Given the description of an element on the screen output the (x, y) to click on. 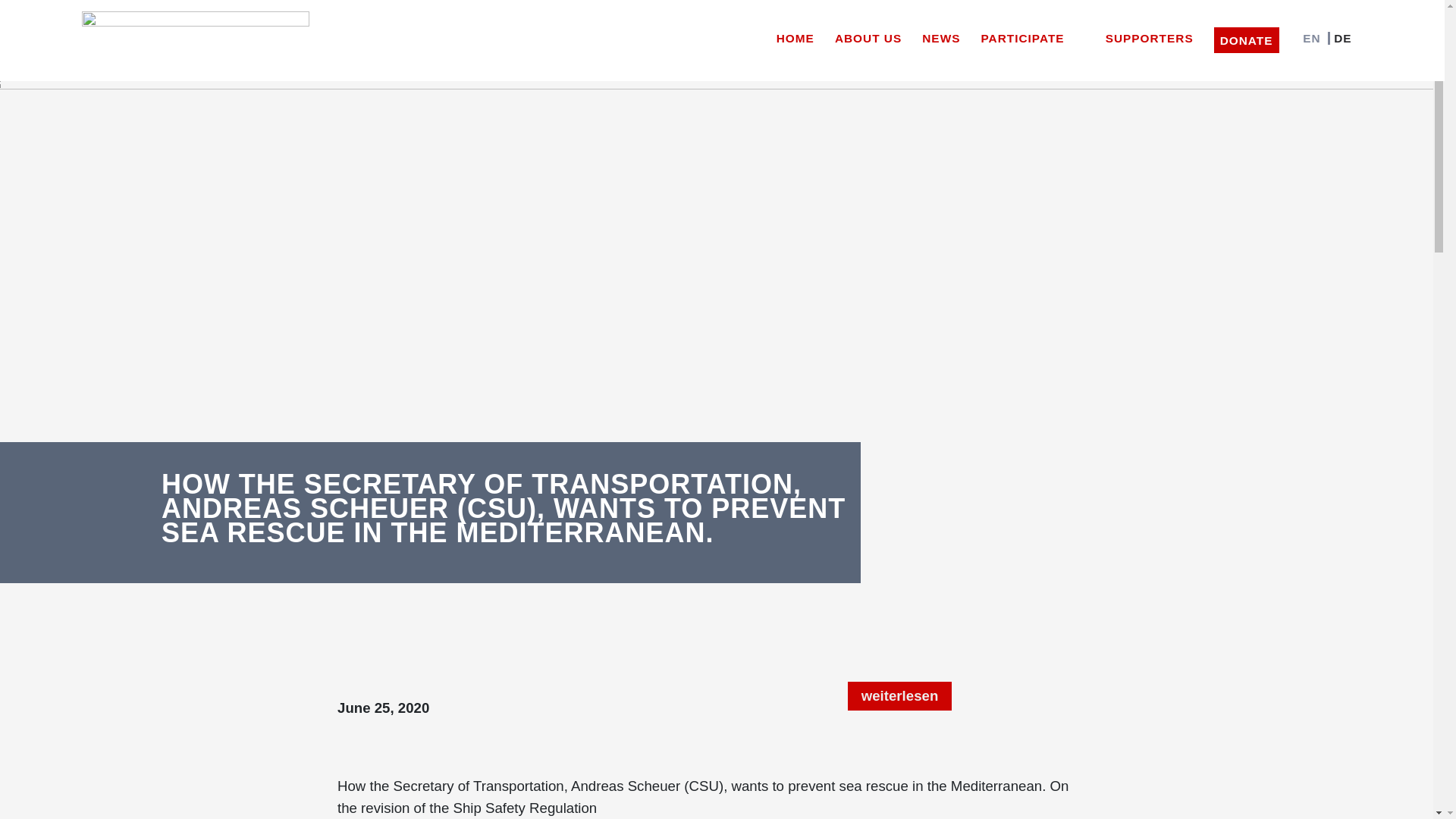
HOME (794, 35)
PARTICIPATE (1031, 35)
DONATE (1246, 39)
SUPPORTERS (1149, 35)
DE (1338, 35)
weiterlesen (899, 695)
ABOUT US (867, 35)
NEWS (940, 35)
DE (1338, 35)
